Given the description of an element on the screen output the (x, y) to click on. 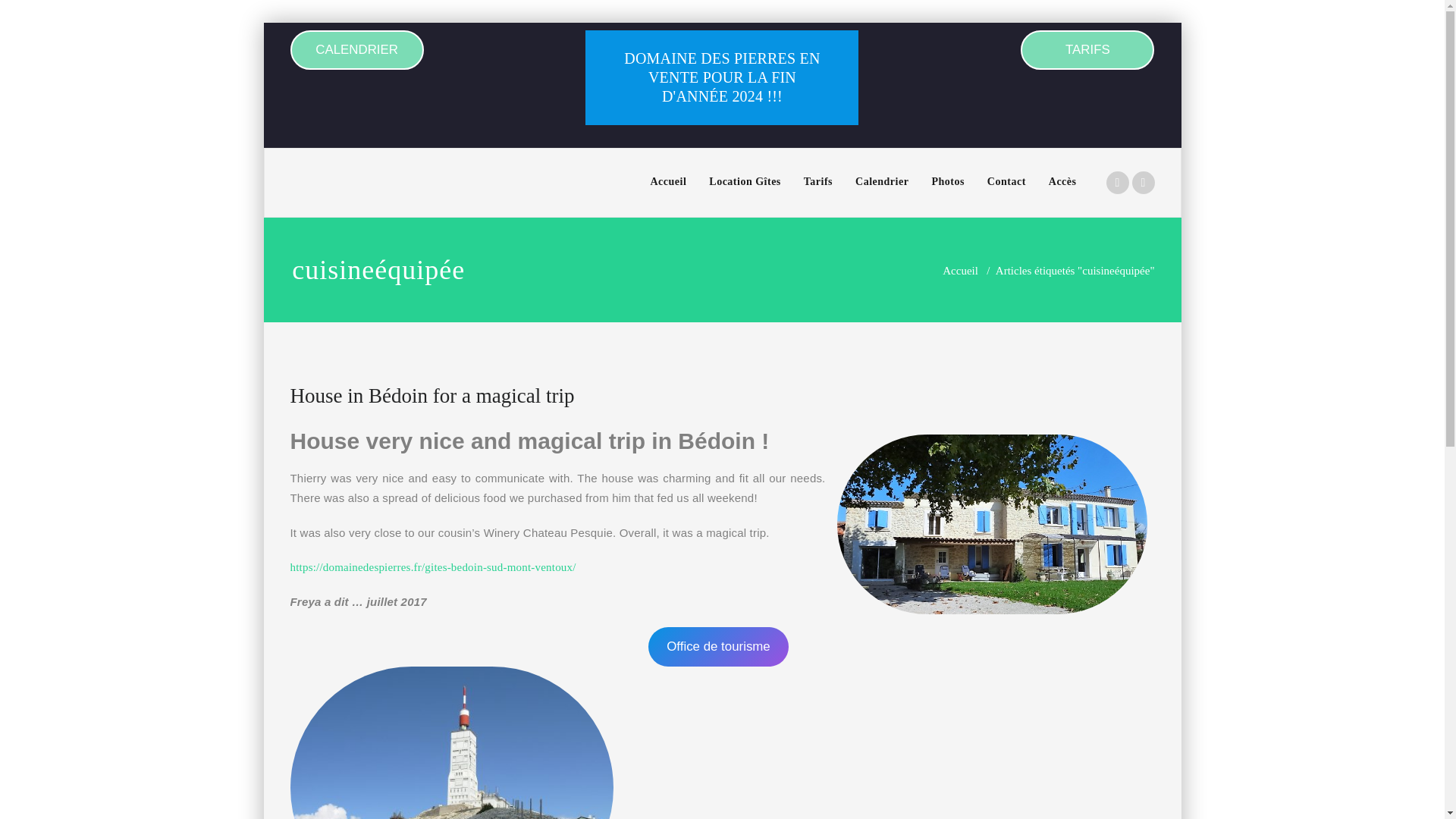
Accueil (668, 181)
CALENDRIER (356, 49)
Tarifs (818, 181)
Office de tourisme (718, 646)
